Given the description of an element on the screen output the (x, y) to click on. 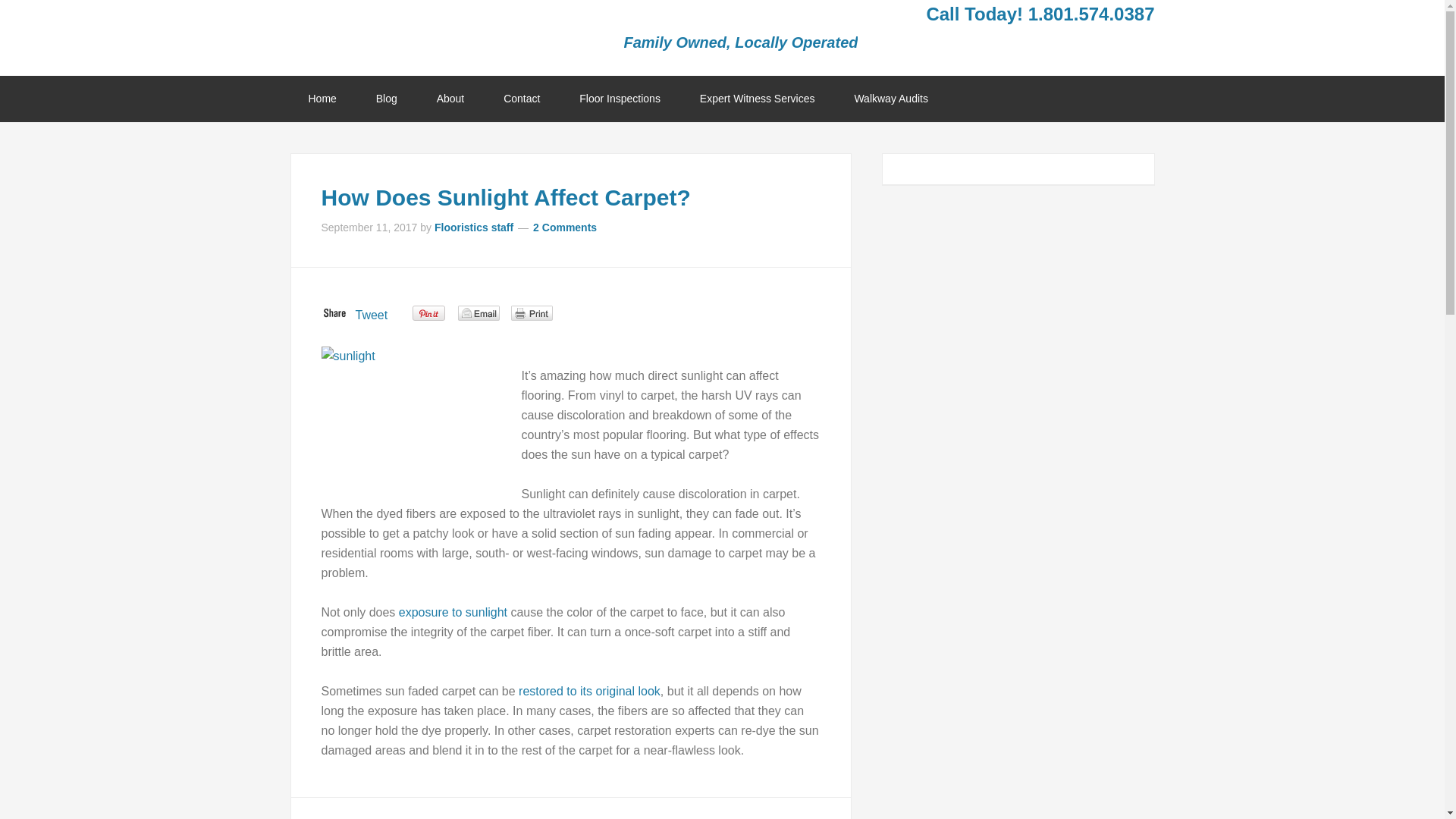
Flooristics (410, 34)
About (451, 99)
Floor Inspections (619, 99)
exposure to sunlight (452, 612)
Contact (520, 99)
restored to its original look (589, 690)
Expert Witness Services (756, 99)
Print (532, 313)
Flooristics staff (473, 227)
Blog (386, 99)
2 Comments (564, 227)
Home (321, 99)
Pin It (428, 313)
Walkway Audits (890, 99)
Email (478, 313)
